Given the description of an element on the screen output the (x, y) to click on. 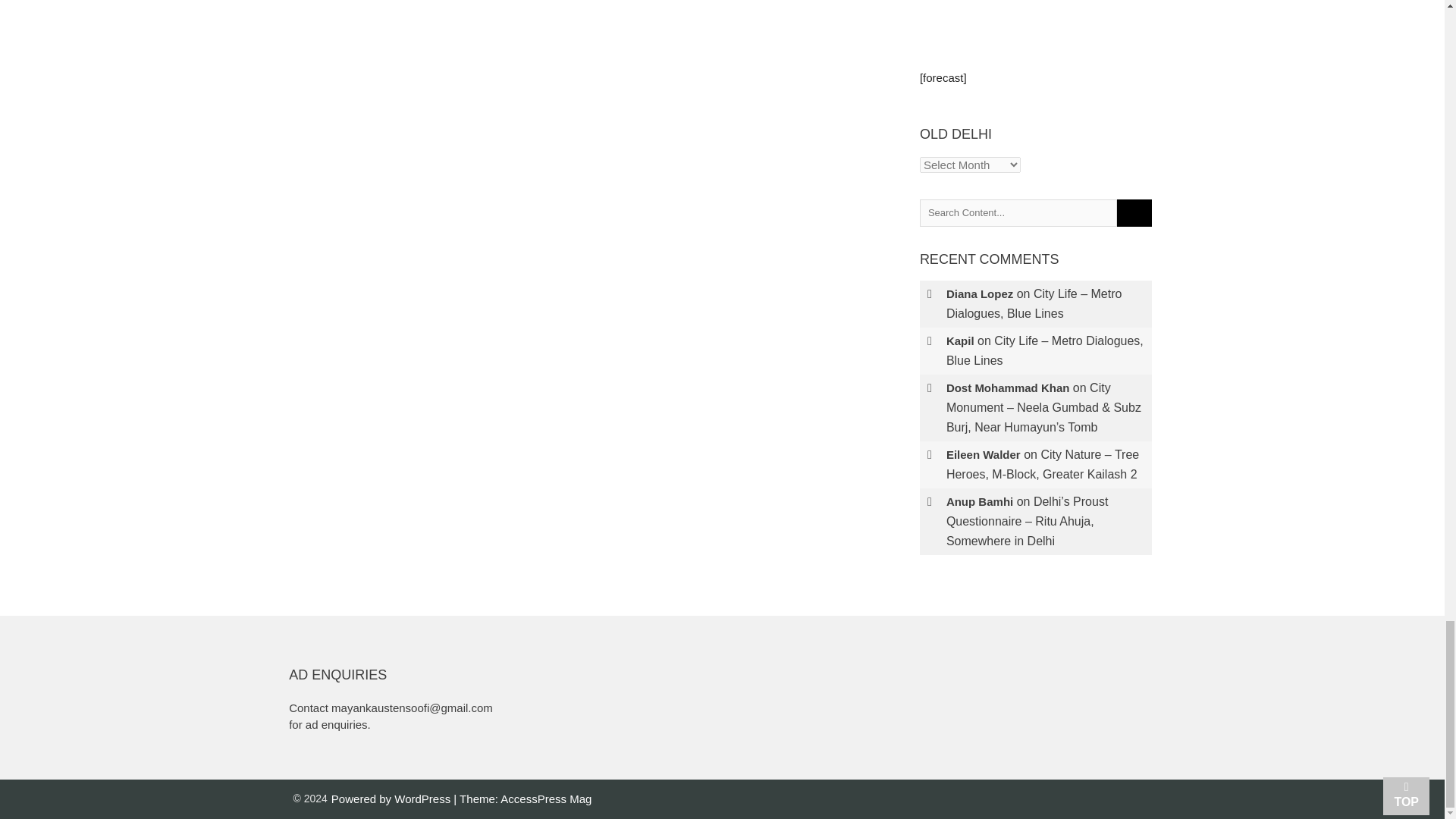
Search for: (1018, 212)
AccessPress Themes (545, 798)
